Given the description of an element on the screen output the (x, y) to click on. 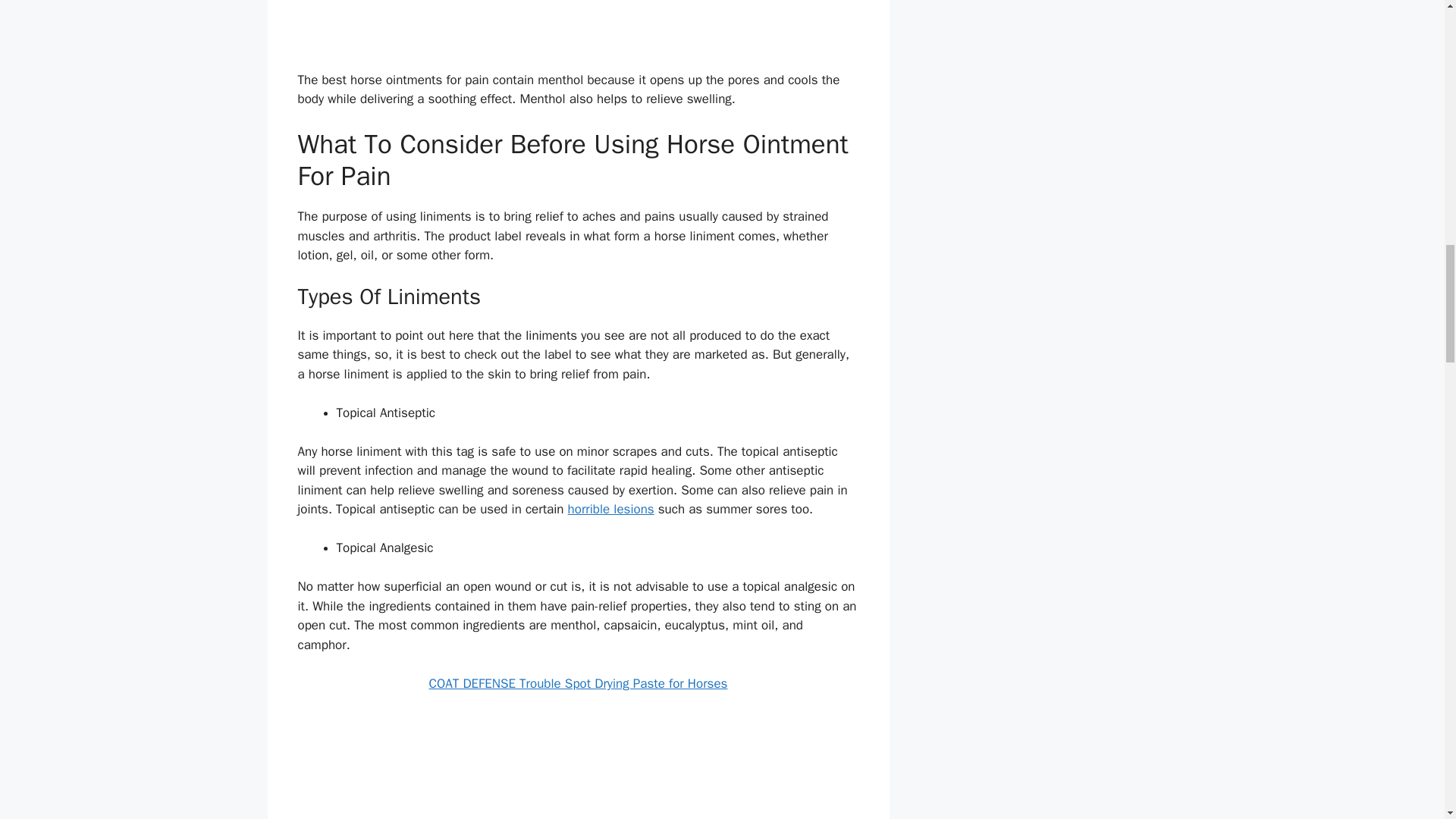
COAT DEFENSE Trouble Spot Drying Paste for Horses (578, 683)
horrible lesions (610, 508)
